Given the description of an element on the screen output the (x, y) to click on. 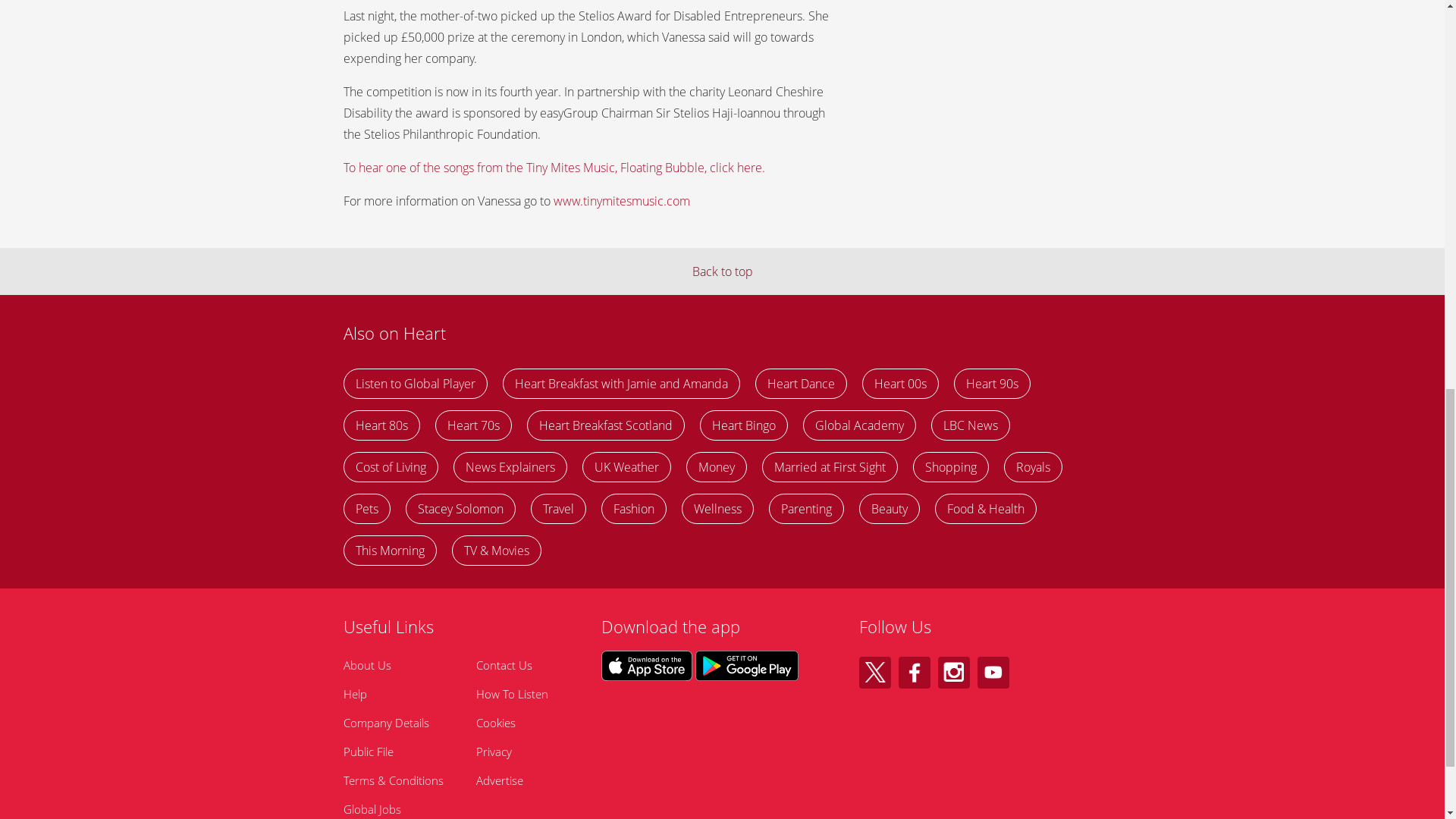
Back to top (721, 271)
Follow Heart on Instagram (953, 672)
Follow Heart on Facebook (914, 672)
Follow Heart on Youtube (992, 672)
Follow Heart on X (874, 672)
